Given the description of an element on the screen output the (x, y) to click on. 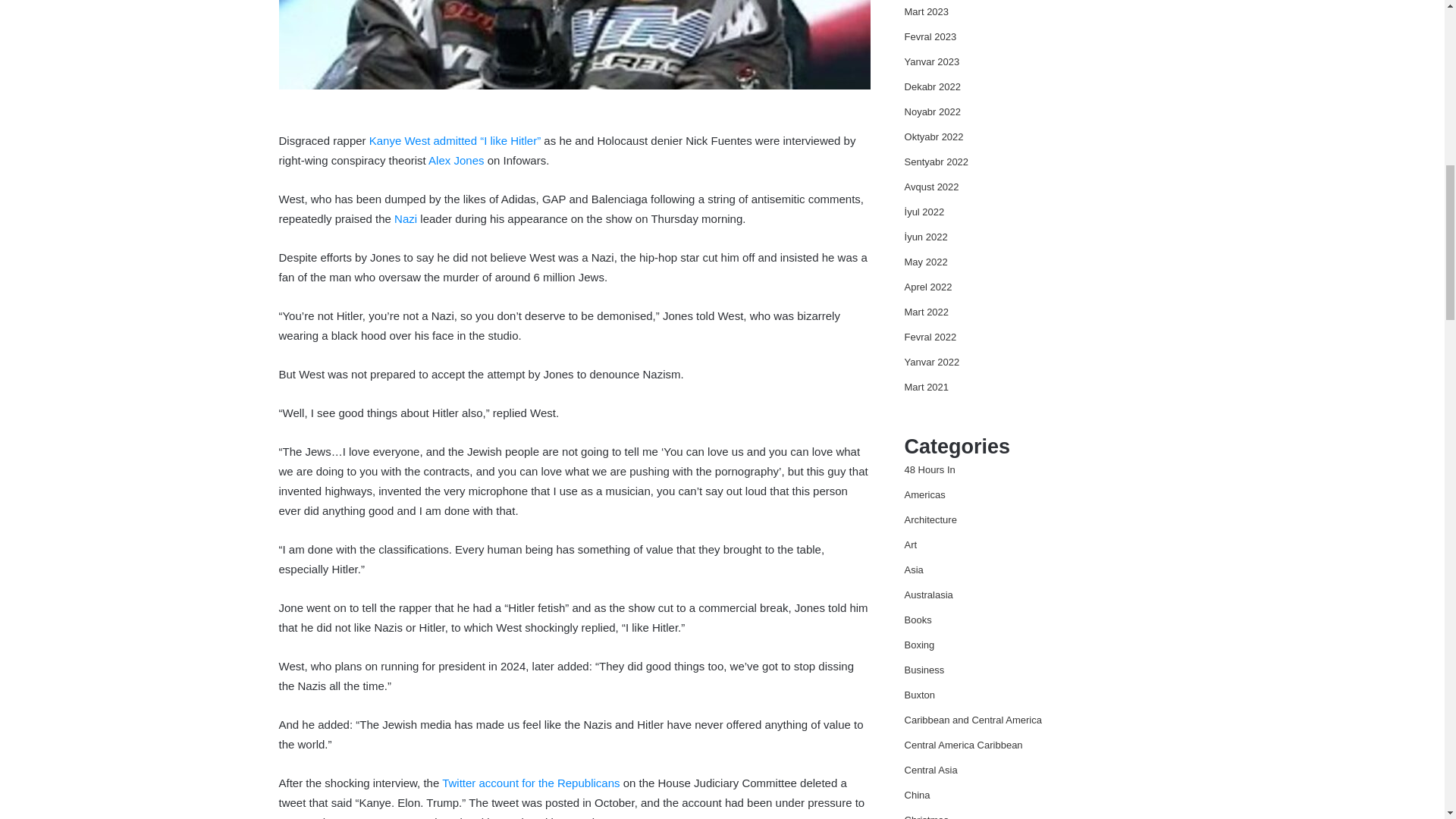
Nazi (405, 218)
Alex Jones (455, 160)
Twitter account for the Republicans (531, 782)
